Given the description of an element on the screen output the (x, y) to click on. 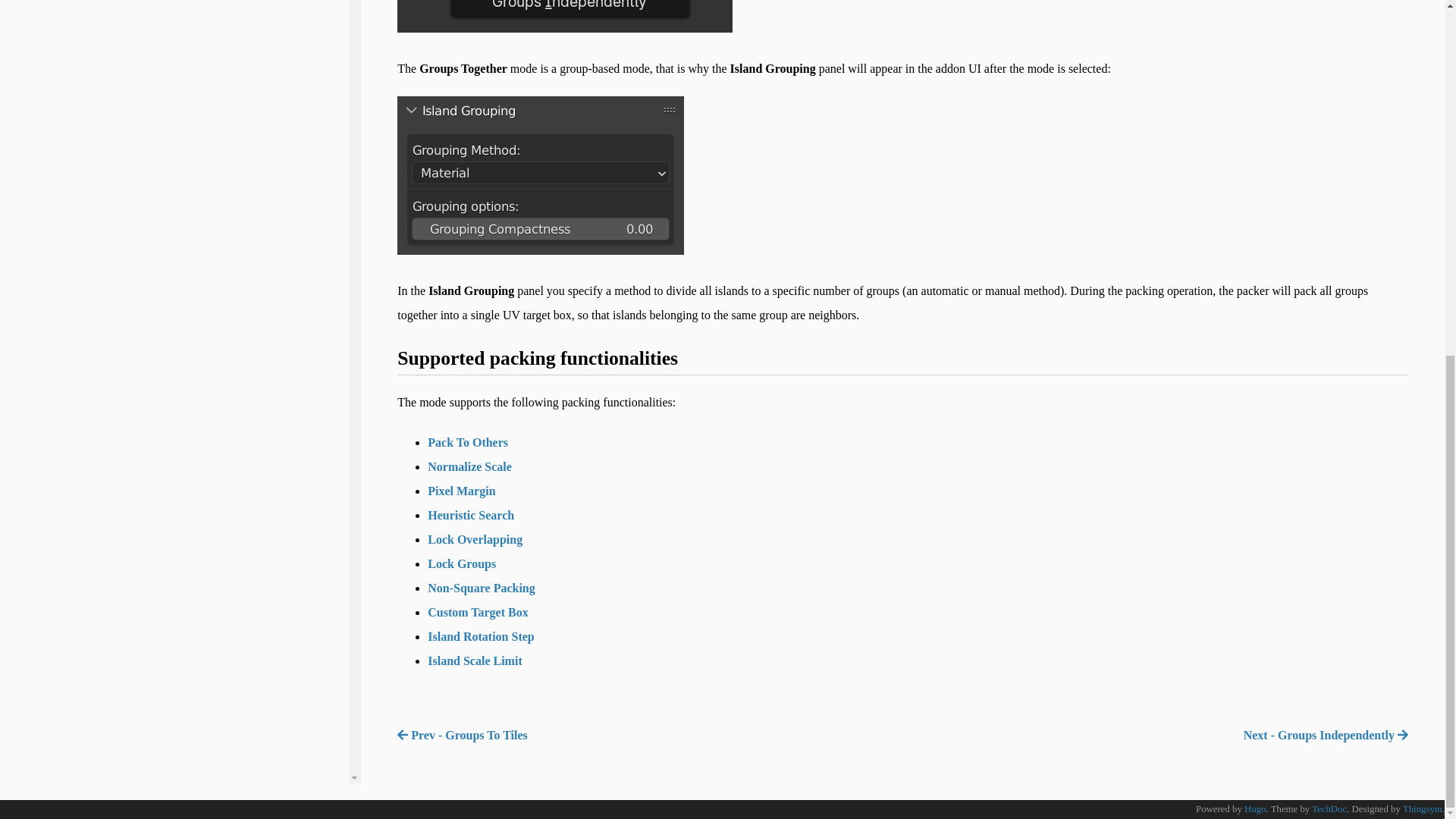
Lock Groups (462, 563)
Heuristic Search (470, 514)
Non-Square Packing (481, 587)
Normalize Scale (470, 466)
Island Scale Limit (474, 660)
Groups To Tiles (462, 735)
Pack To Others (468, 441)
Lock Overlapping (475, 539)
Island Grouping panel. (540, 175)
Island Rotation Step (481, 635)
